Given the description of an element on the screen output the (x, y) to click on. 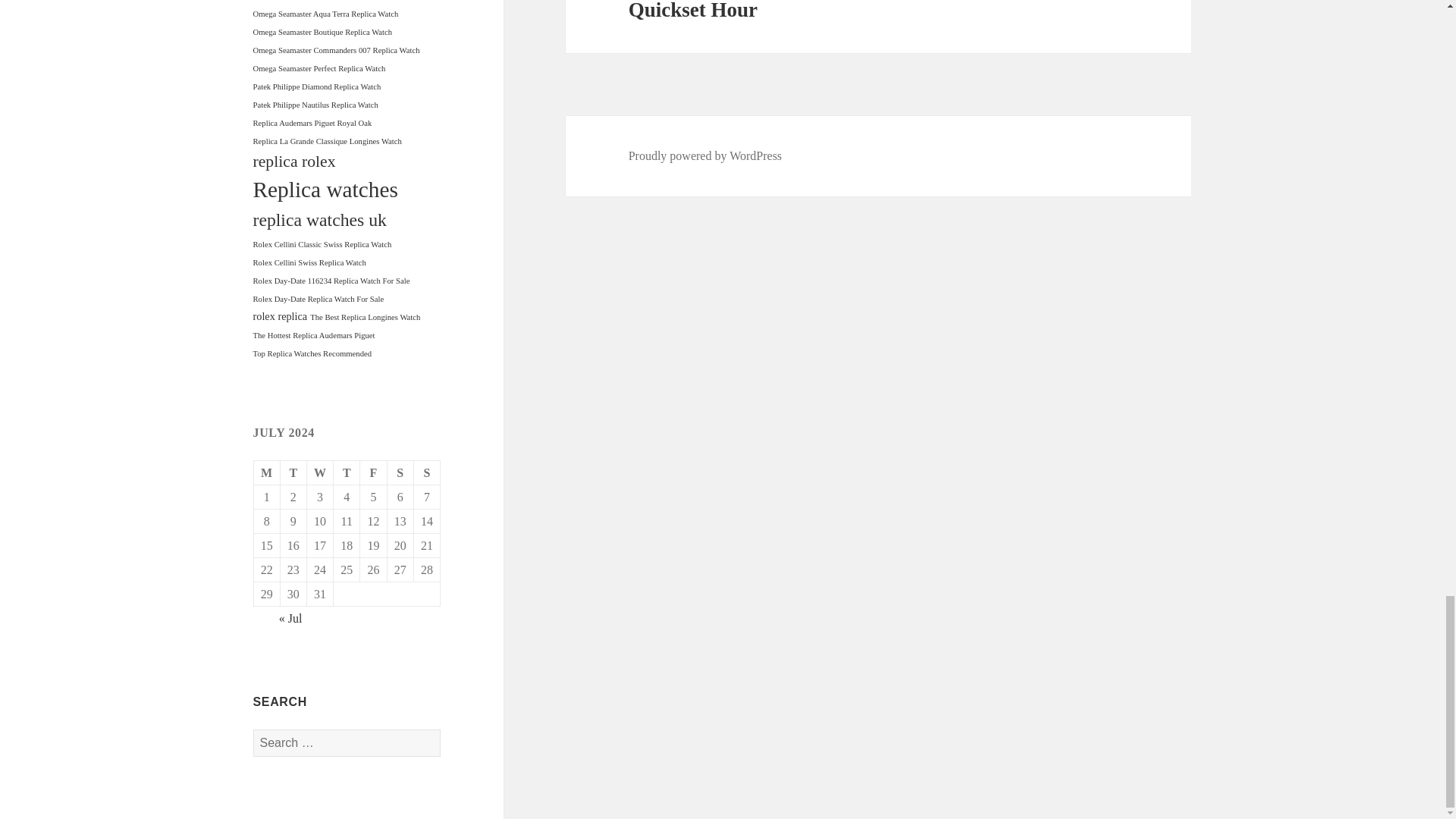
Saturday (400, 473)
Thursday (346, 473)
Wednesday (320, 473)
Tuesday (294, 473)
Monday (267, 473)
Friday (373, 473)
Sunday (427, 473)
